Given the description of an element on the screen output the (x, y) to click on. 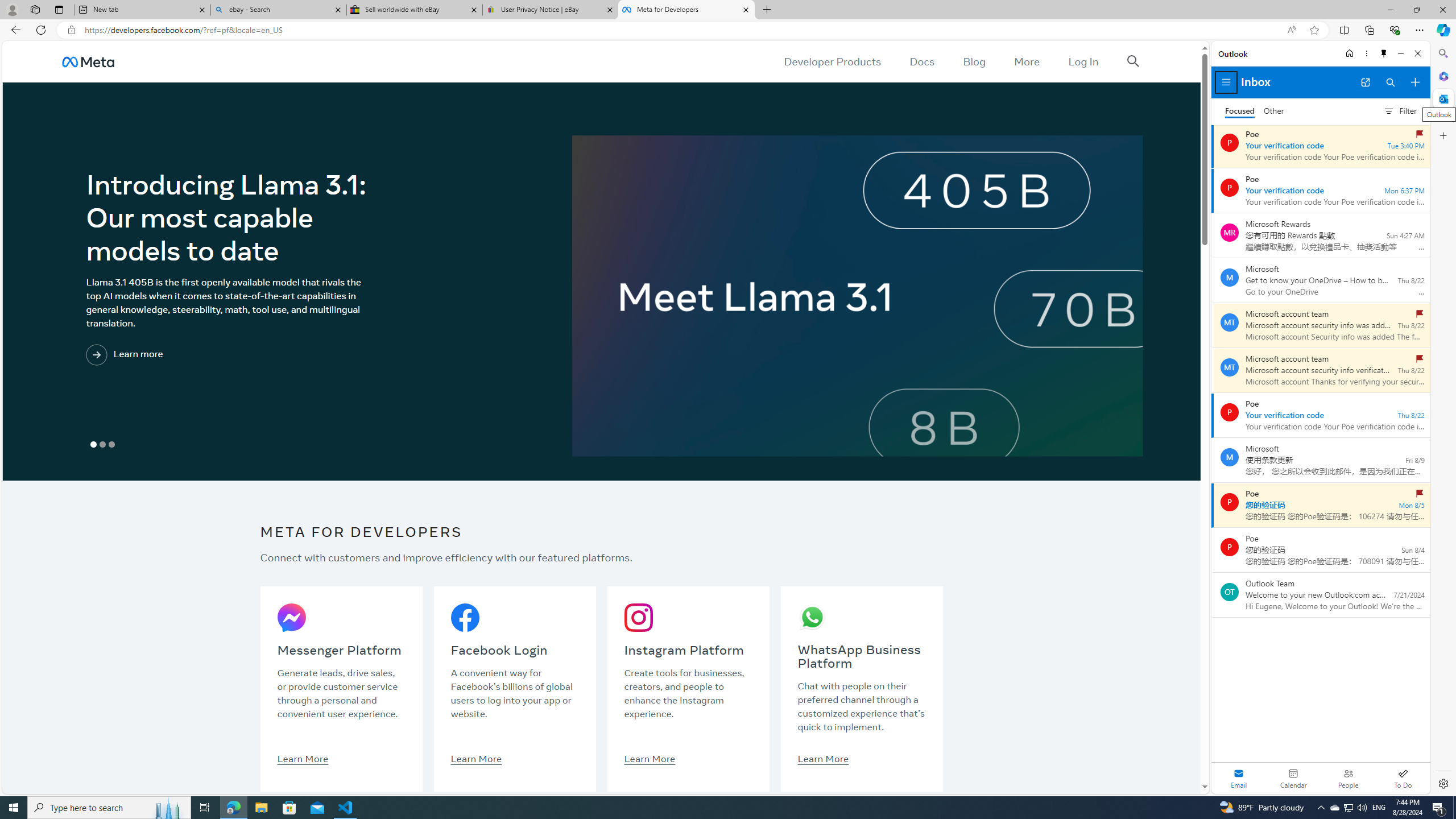
Microsoft 365 (1442, 76)
Learn More (822, 758)
Show Slide 3 (112, 444)
Home (1348, 53)
Settings (1442, 783)
Log In (1083, 61)
Focused (1239, 110)
Meta for Developers (685, 9)
